Given the description of an element on the screen output the (x, y) to click on. 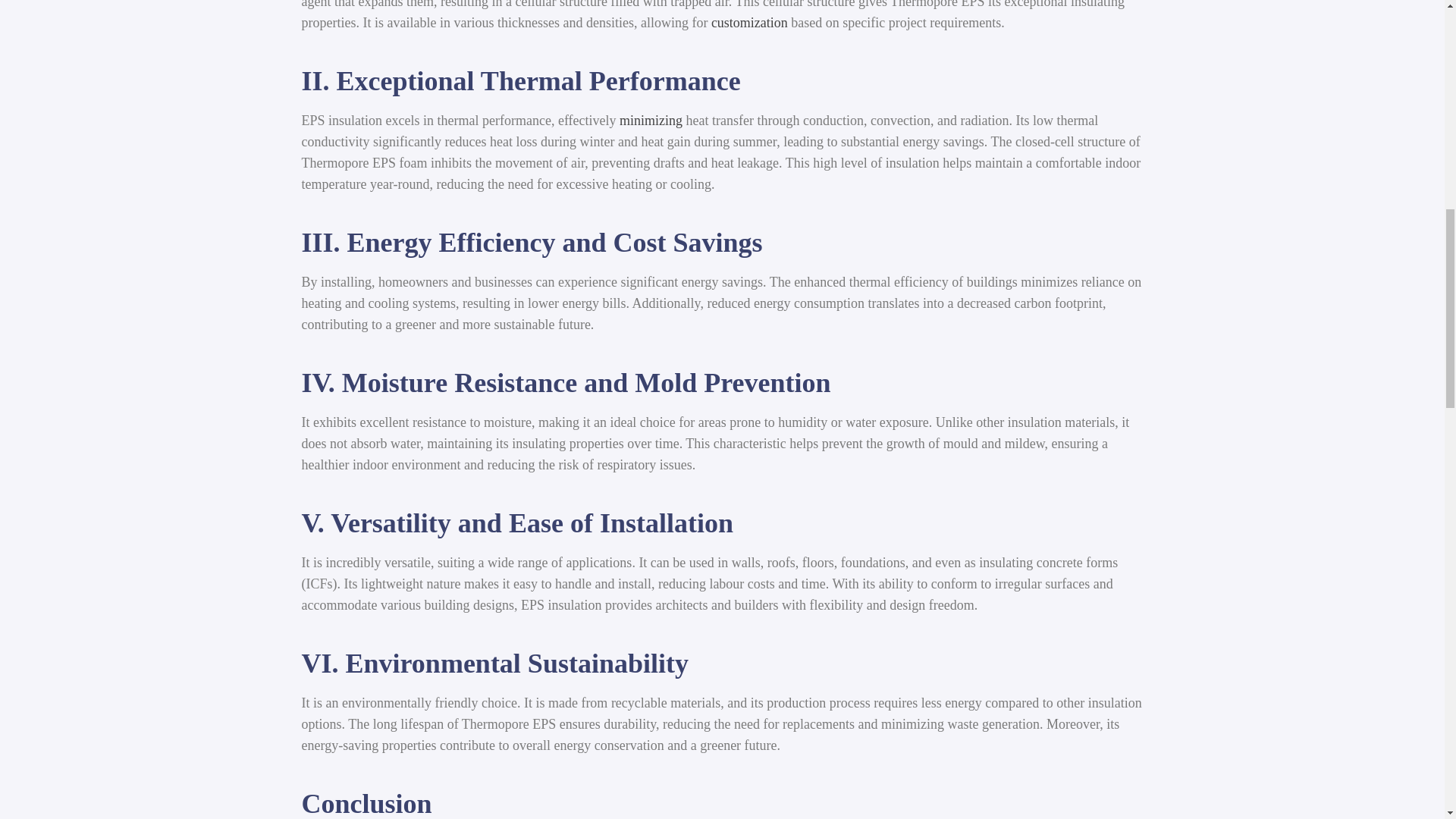
minimizing (651, 120)
customization (749, 22)
